Given the description of an element on the screen output the (x, y) to click on. 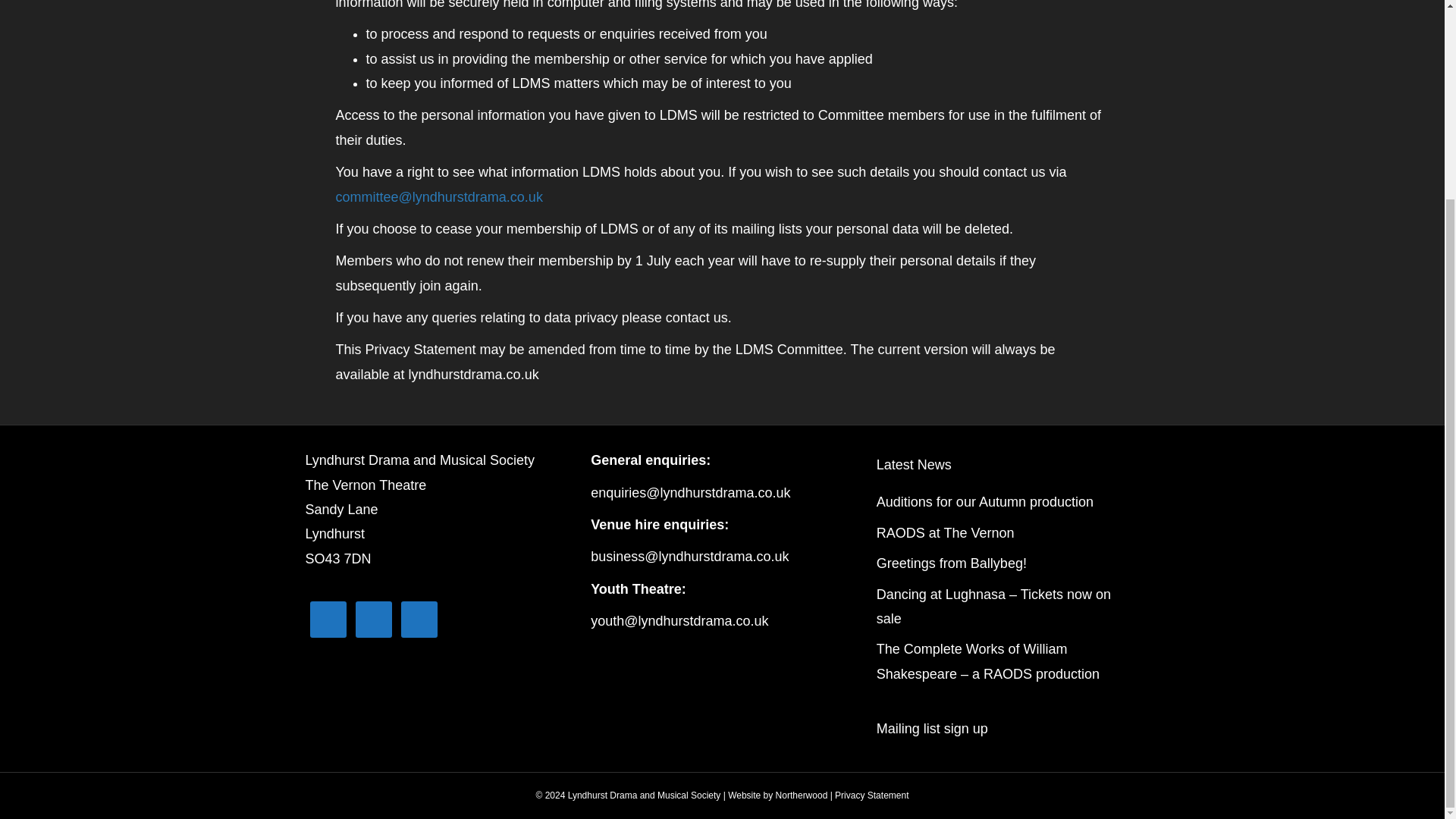
Greetings from Ballybeg! (951, 563)
Auditions for our Autumn production (984, 501)
RAODS at The Vernon (945, 532)
